Given the description of an element on the screen output the (x, y) to click on. 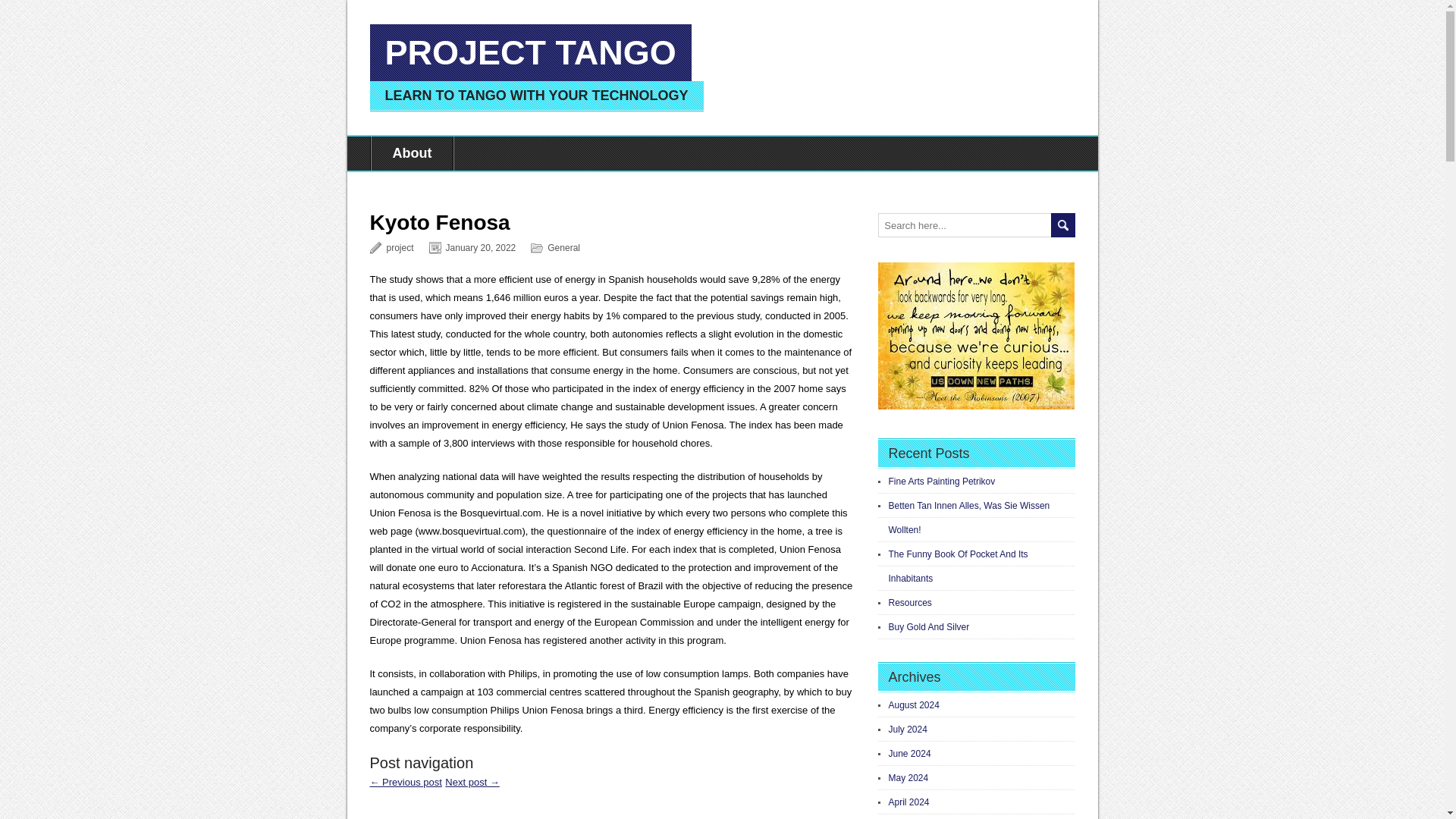
About (410, 153)
July 2024 (907, 728)
Resources (909, 602)
April 2024 (909, 801)
Fine Arts Painting Petrikov (941, 480)
General (563, 247)
Repair Structures (405, 781)
PROJECT TANGO (531, 52)
May 2024 (908, 777)
June 2024 (909, 753)
